Given the description of an element on the screen output the (x, y) to click on. 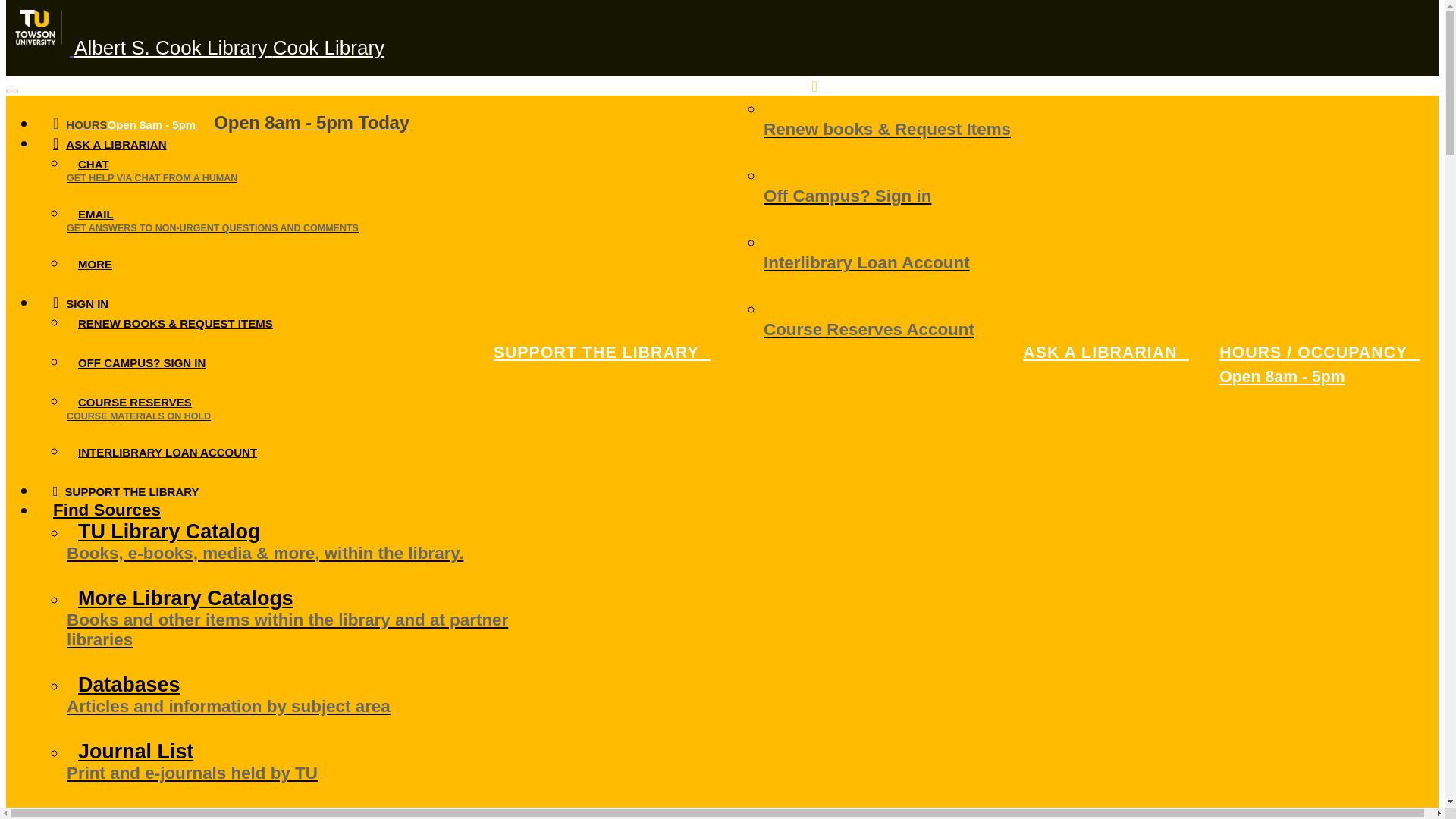
SUPPORT THE LIBRARY (607, 352)
Using the Libraries (130, 812)
Journal List (317, 773)
Off Campus? Sign in (886, 195)
Home (229, 47)
EMAIL (317, 228)
Databases (317, 706)
ASK A LIBRARIAN (109, 144)
SIGN IN (784, 85)
Course Reserves Account (886, 329)
Find Sources (106, 509)
ASK A LIBRARIAN (1110, 352)
Interlibrary Loan Account (886, 262)
COURSE RESERVES (317, 417)
